Given the description of an element on the screen output the (x, y) to click on. 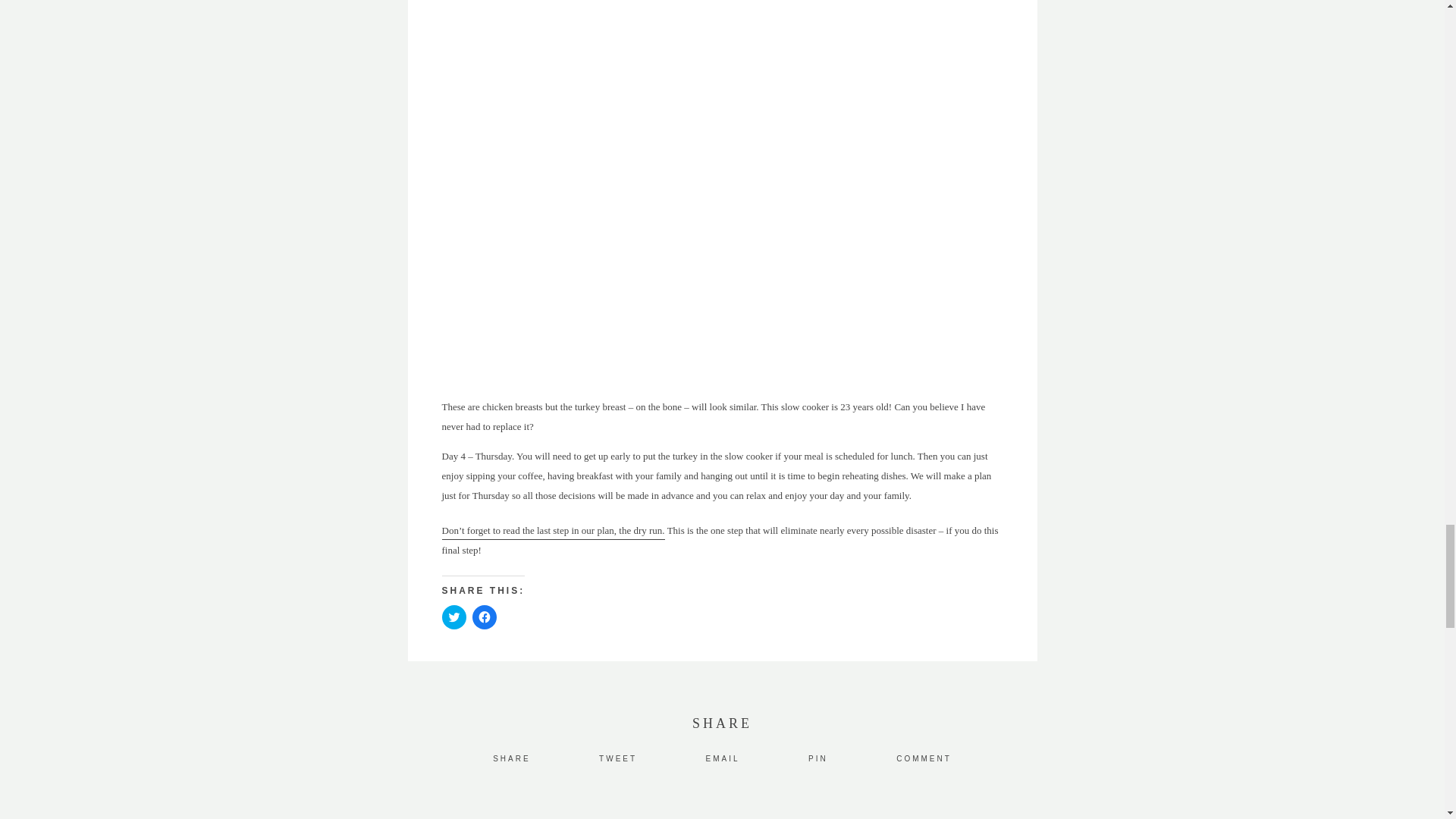
Click to share on Facebook (483, 617)
PIN (818, 758)
EMAIL (722, 758)
TWEET (617, 758)
Facebook (511, 758)
Click to share on Twitter (453, 617)
SHARE (511, 758)
COMMENT (924, 758)
Twitter (617, 758)
